Given the description of an element on the screen output the (x, y) to click on. 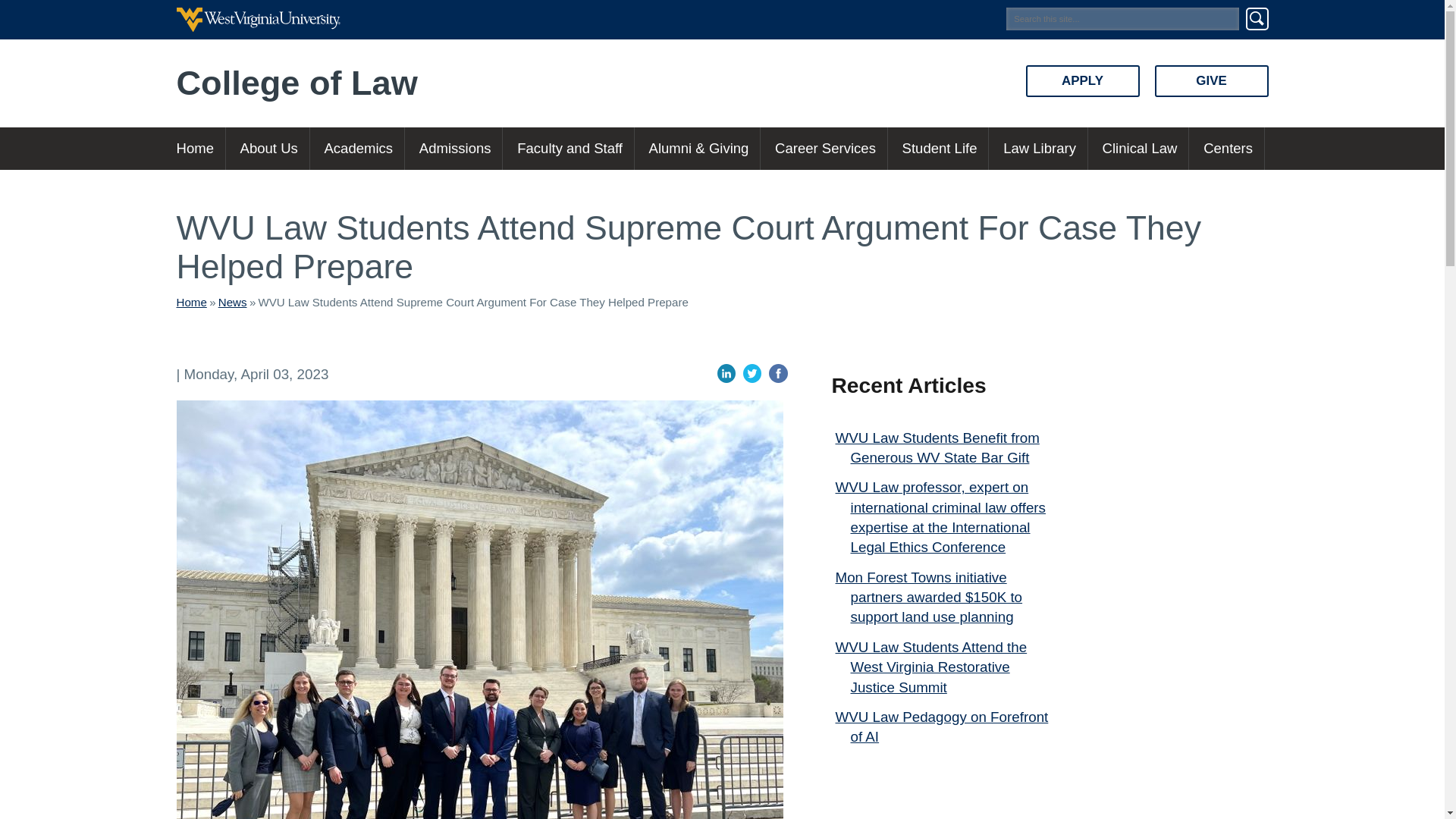
WVU Law Admissions (454, 148)
Centers (1228, 148)
Home (200, 148)
Academics (358, 148)
Faculty and Staff (569, 148)
About Us (269, 148)
GIVE (1211, 81)
APPLY (1081, 81)
WVU Law Students Benefit from Generous WV State Bar Gift (937, 447)
Admissions (454, 148)
